Given the description of an element on the screen output the (x, y) to click on. 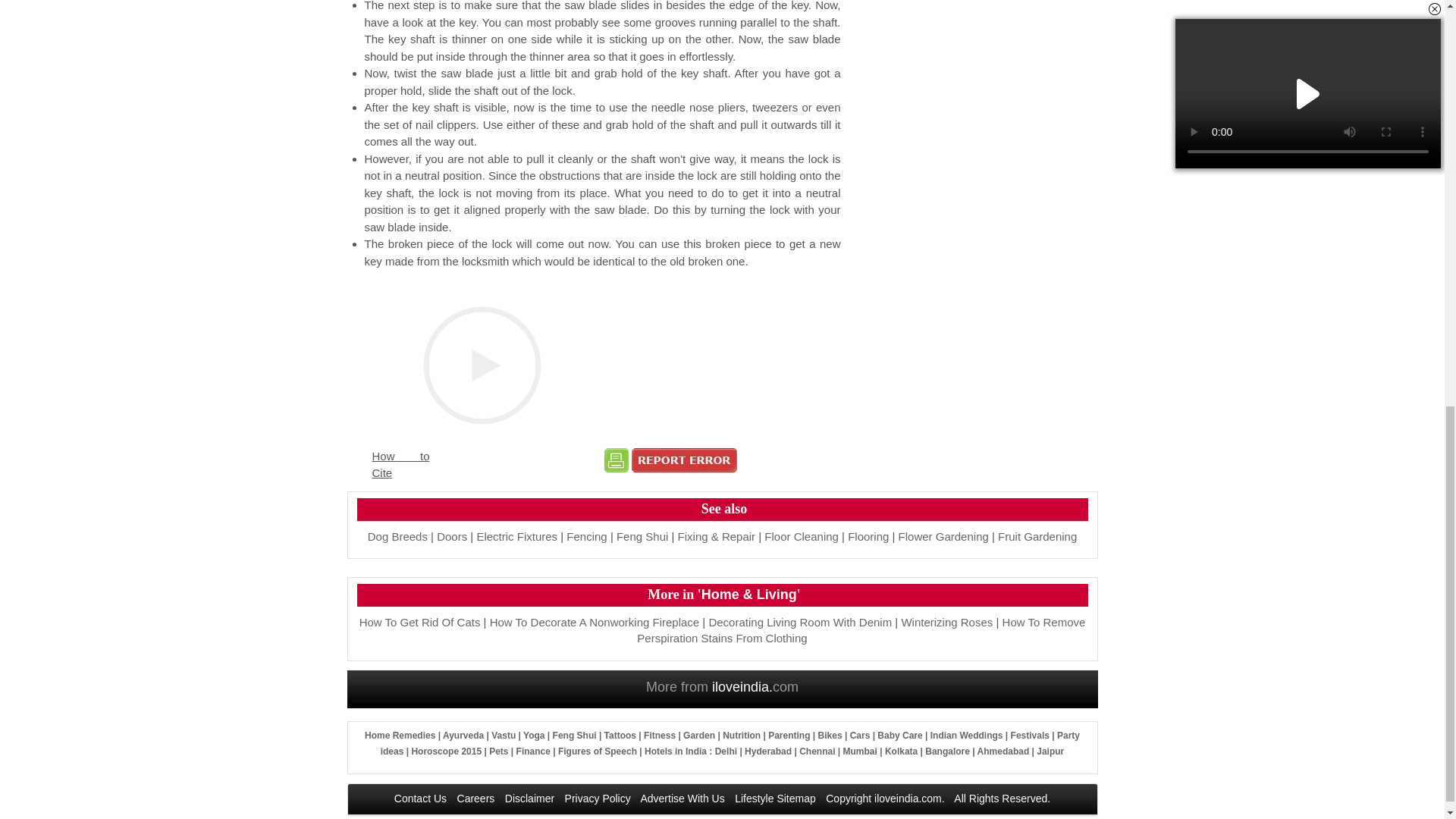
Flower Gardening (943, 535)
Fencing (586, 535)
Flooring (867, 535)
Floor Cleaning (801, 535)
Feng Shui (641, 535)
Electric Fixtures (516, 535)
Fruit Gardening (1037, 535)
Dog Breeds (398, 535)
Advertisement (973, 102)
